Given the description of an element on the screen output the (x, y) to click on. 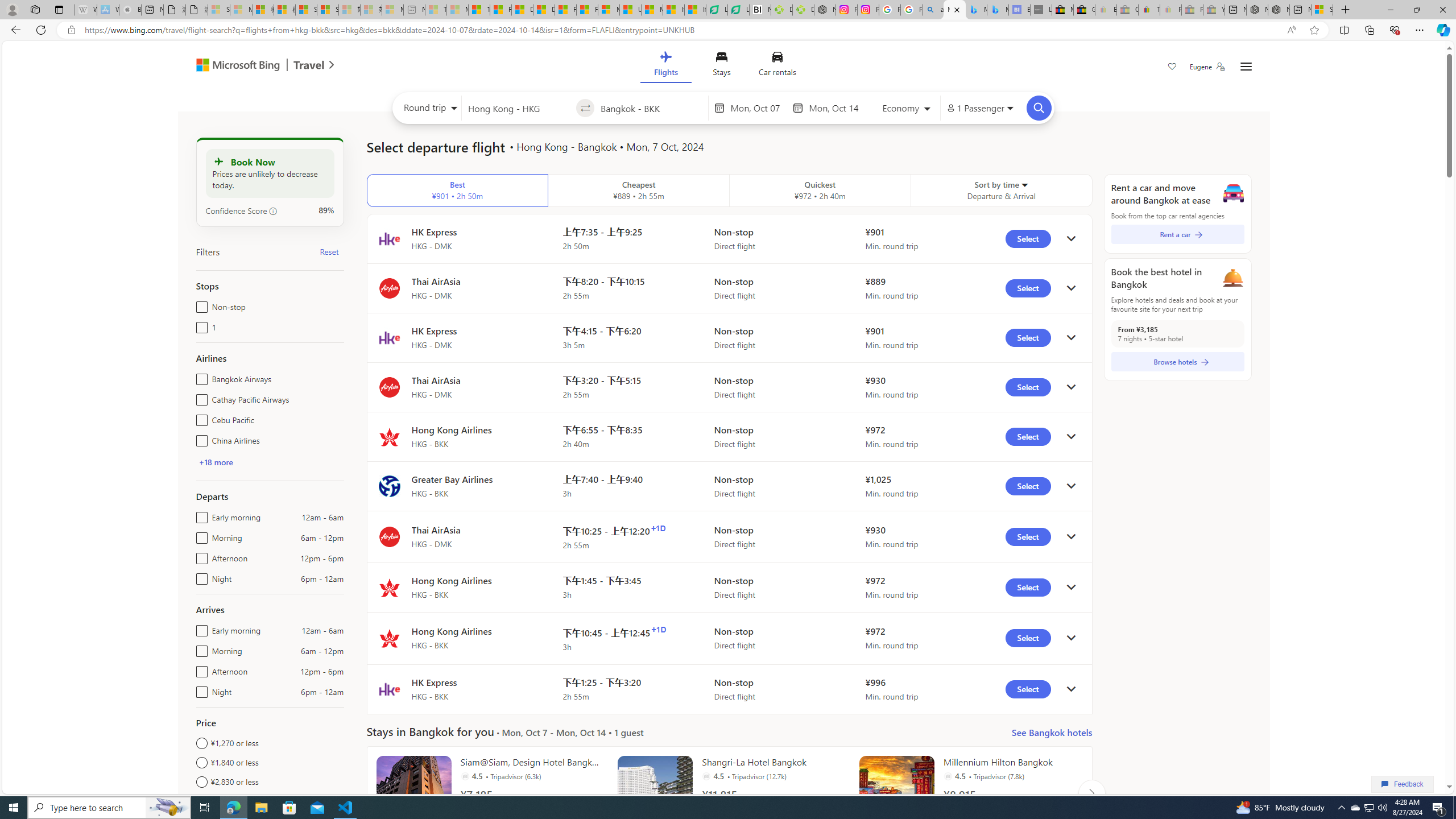
Foo BAR | Trusted Community Engagement and Contributions (587, 9)
Save (1171, 67)
Select trip type (428, 110)
Afternoon12pm - 6pm (199, 669)
Threats and offensive language policy | eBay (1149, 9)
Payments Terms of Use | eBay.com - Sleeping (1170, 9)
Save (1171, 67)
click to get details (1070, 688)
US Heat Deaths Soared To Record High Last Year (630, 9)
